Given the description of an element on the screen output the (x, y) to click on. 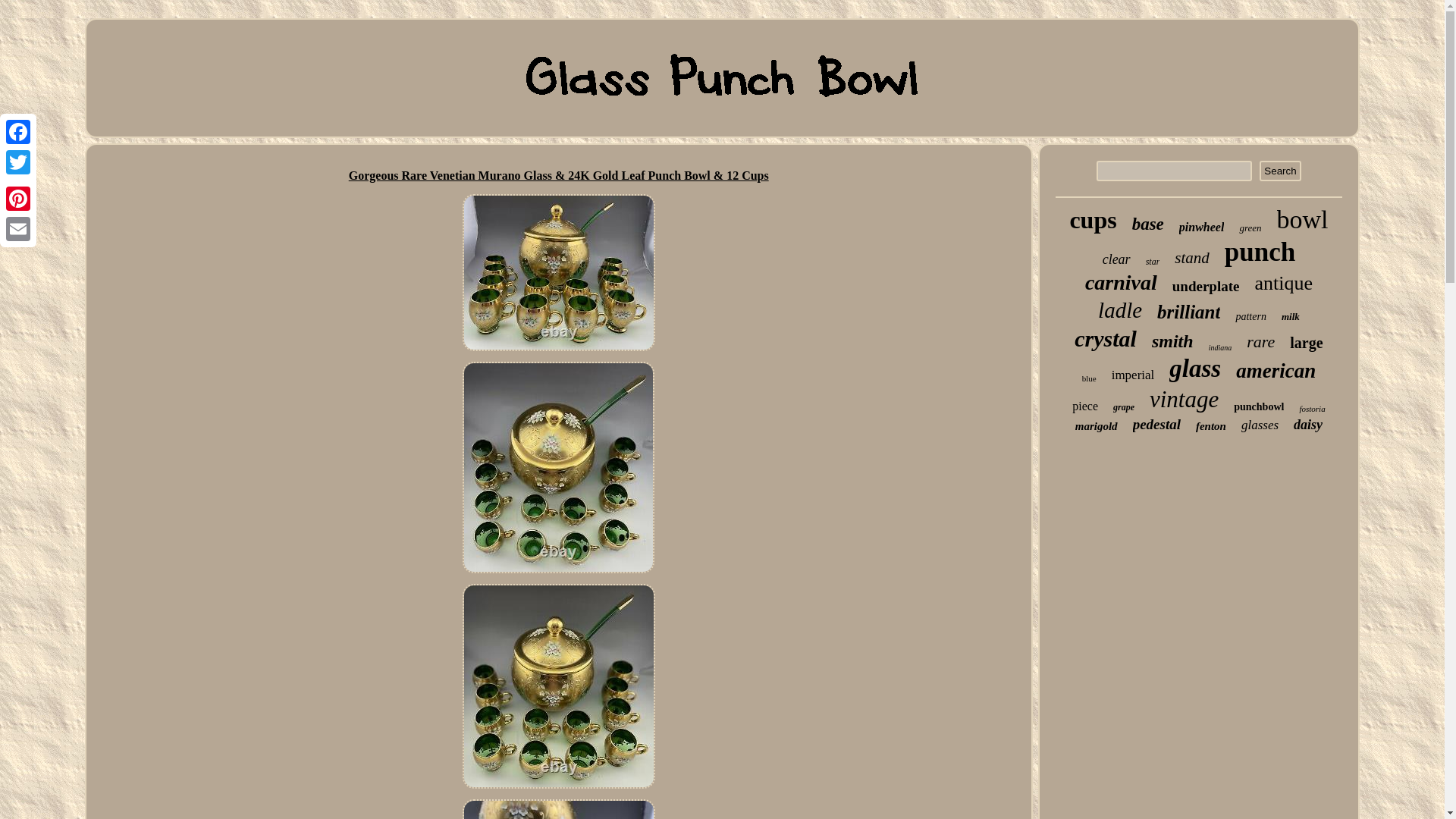
Twitter (17, 162)
Facebook (17, 132)
Search (1279, 170)
clear (1116, 259)
stand (1191, 257)
punch (1259, 252)
star (1152, 261)
Search (1279, 170)
underplate (1206, 286)
bowl (1301, 219)
Pinterest (17, 198)
green (1249, 227)
Email (17, 228)
cups (1092, 220)
pinwheel (1201, 227)
